Given the description of an element on the screen output the (x, y) to click on. 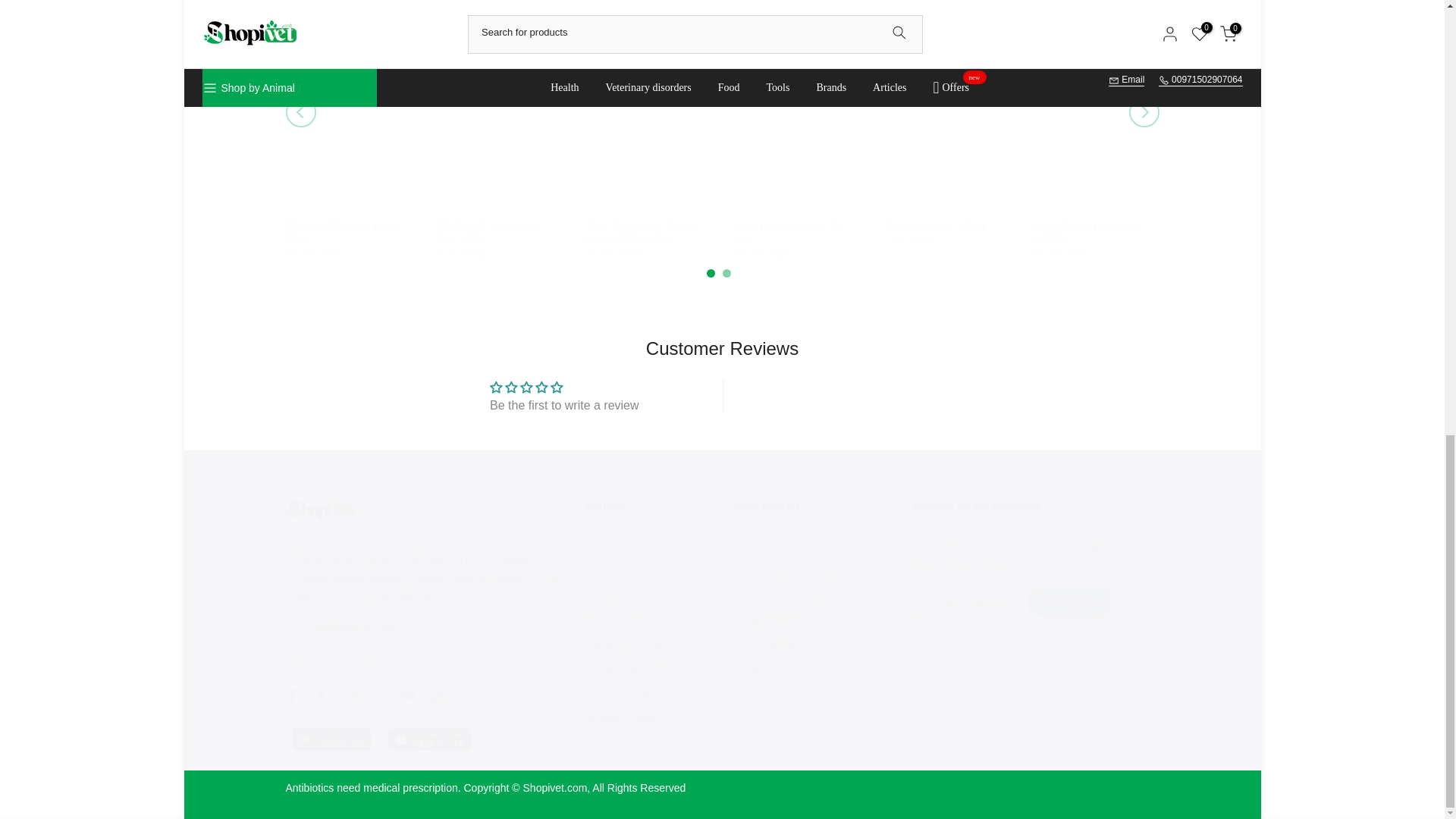
Follow us on Tik Tok (435, 695)
Follow us on Snapchat (378, 695)
Follow us on Instagram (349, 695)
Follow us on Twitter (320, 695)
Follow us on YouTube (406, 695)
Follow us on Facebook (291, 695)
